Given the description of an element on the screen output the (x, y) to click on. 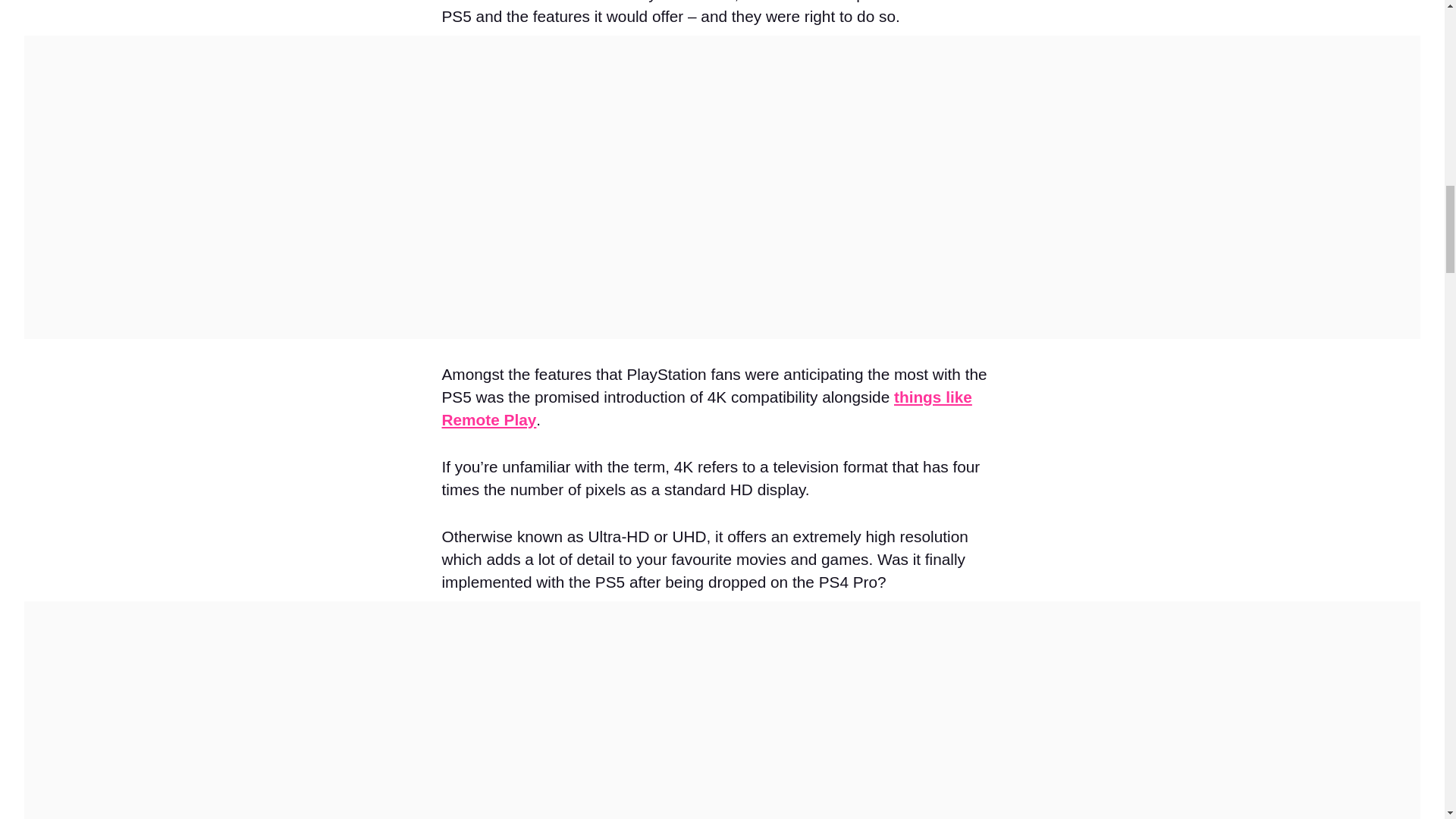
things like Remote Play (706, 408)
